Given the description of an element on the screen output the (x, y) to click on. 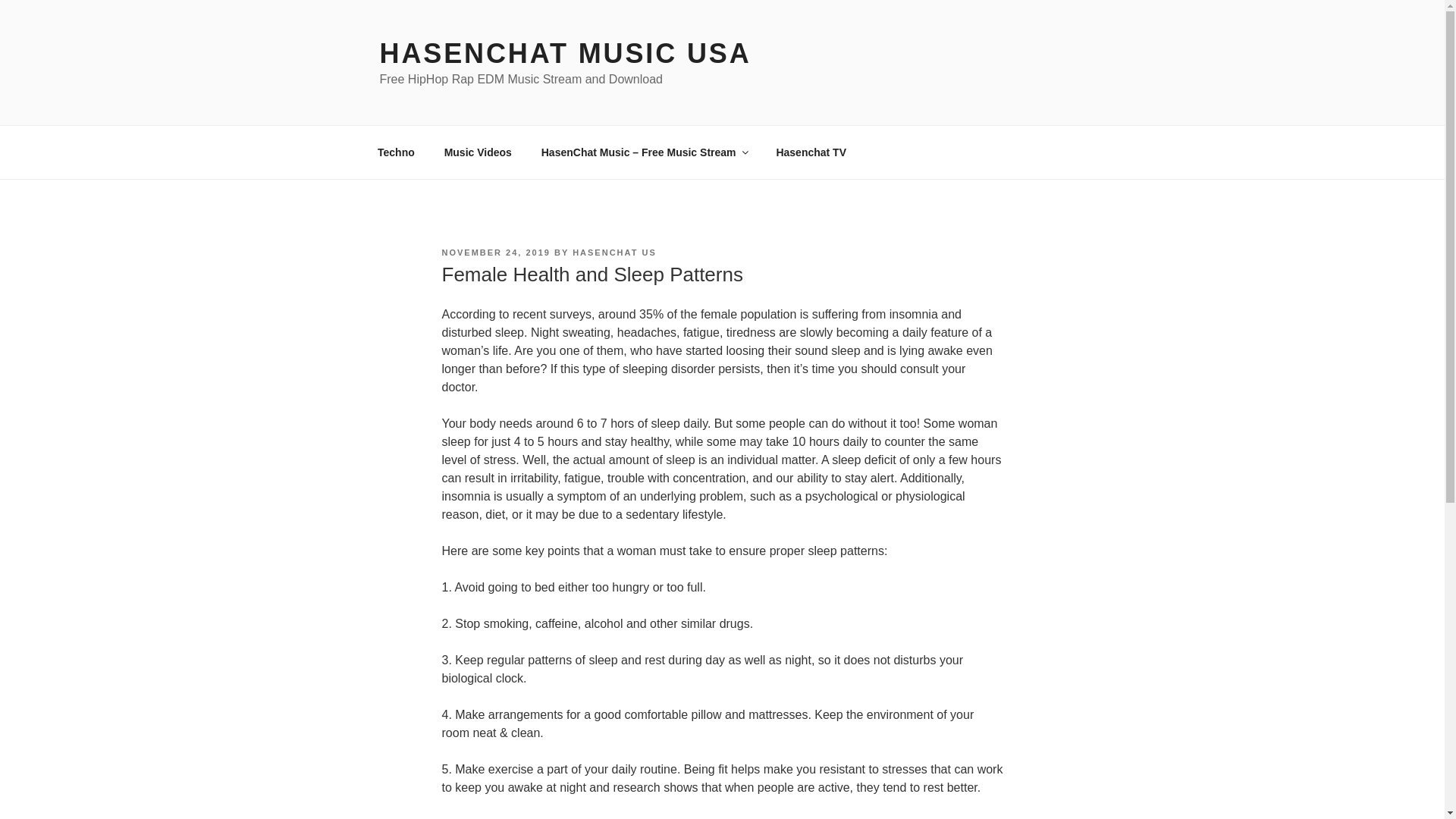
NOVEMBER 24, 2019 (495, 252)
HASENCHAT US (614, 252)
Hasenchat TV (811, 151)
Music Videos (477, 151)
HASENCHAT MUSIC USA (564, 52)
Techno (396, 151)
